Given the description of an element on the screen output the (x, y) to click on. 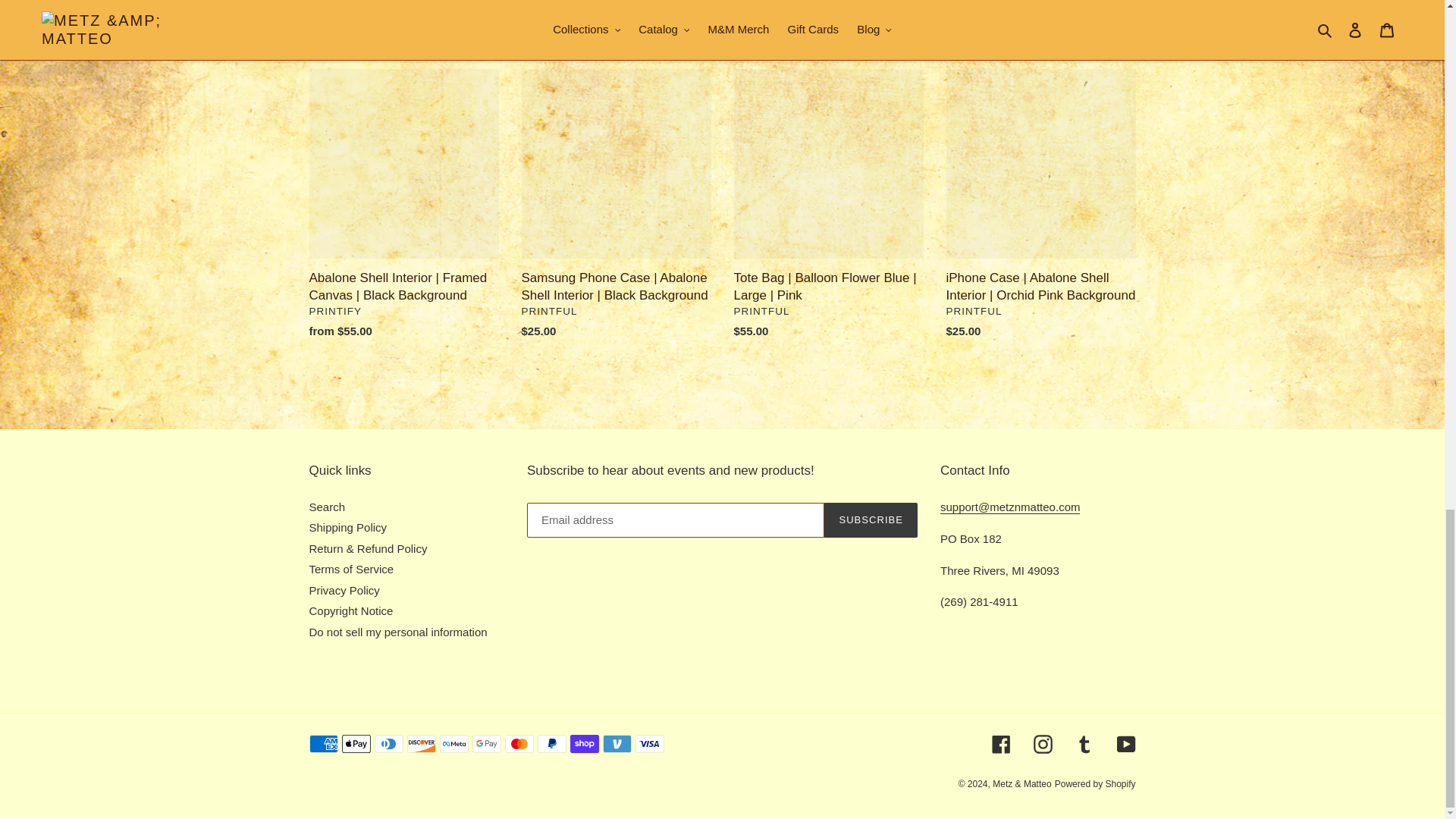
Shop Pay (584, 743)
Diners Club (388, 743)
Google Pay (485, 743)
Apple Pay (354, 743)
PayPal (551, 743)
Contact Us (1010, 507)
American Express (322, 743)
Discover (420, 743)
Mastercard (519, 743)
Meta Pay (453, 743)
